Given the description of an element on the screen output the (x, y) to click on. 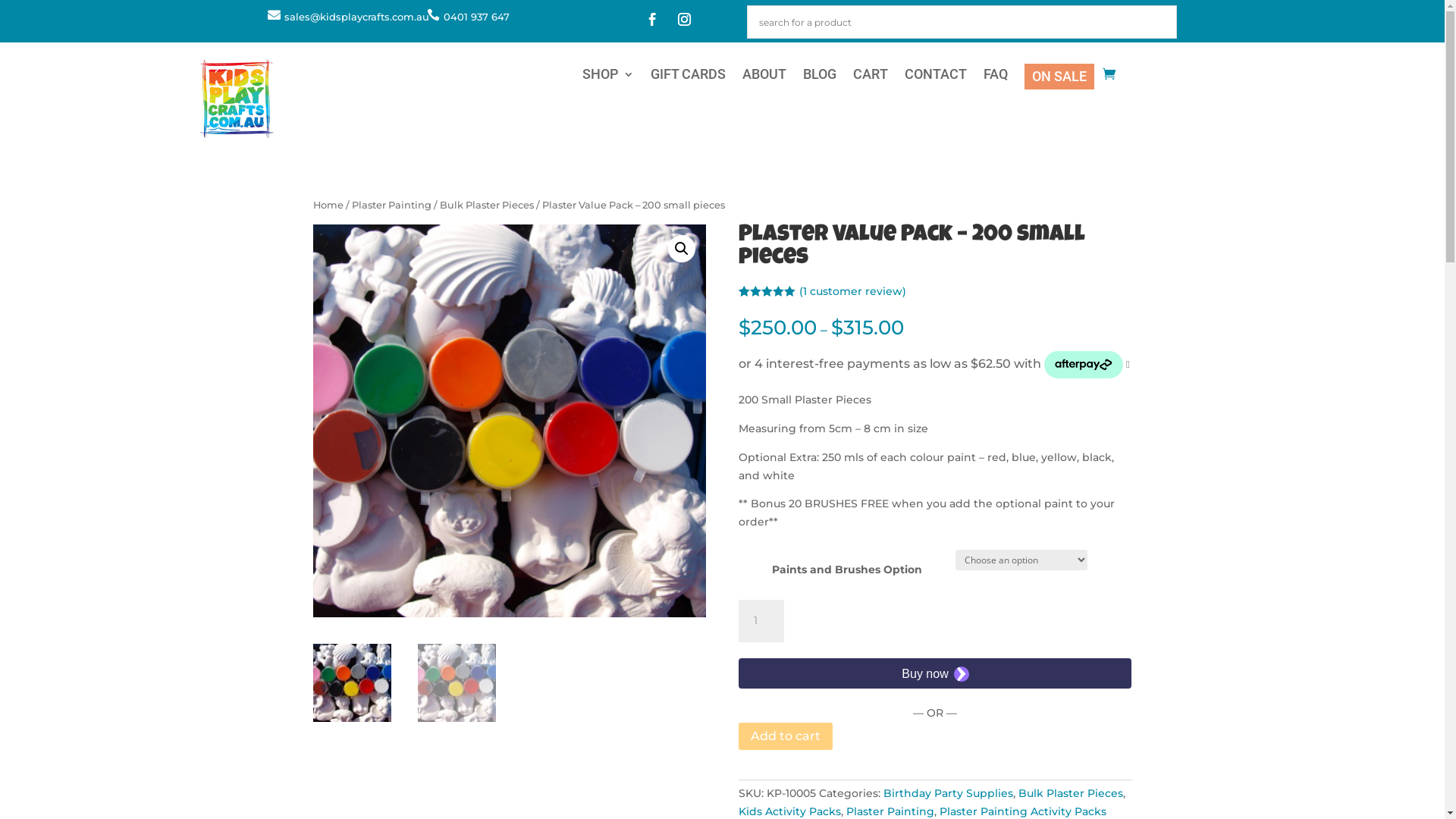
Follow on Facebook Element type: hover (652, 19)
(1 customer review) Element type: text (852, 291)
Plaster Painting Activity Packs Element type: text (1022, 811)
CART Element type: text (869, 79)
SHOP Element type: text (607, 79)
ABOUT Element type: text (763, 79)
Small Plaster Painting Pieces plus paint Element type: hover (508, 420)
BLOG Element type: text (818, 79)
ON SALE Element type: text (1058, 76)
Add to cart Element type: text (785, 736)
Plaster Painting Element type: text (890, 811)
Bulk Plaster Pieces Element type: text (1070, 793)
CONTACT Element type: text (934, 79)
Birthday Party Supplies Element type: text (948, 793)
Home Element type: text (327, 204)
GIFT CARDS Element type: text (687, 79)
Kids Activity Packs Element type: text (789, 811)
Secure payment button frame Element type: hover (934, 673)
KidsPlay_Logo Element type: hover (236, 99)
Follow on Instagram Element type: hover (683, 19)
Plaster Painting Element type: text (391, 204)
Bulk Plaster Pieces Element type: text (486, 204)
FAQ Element type: text (994, 79)
